Given the description of an element on the screen output the (x, y) to click on. 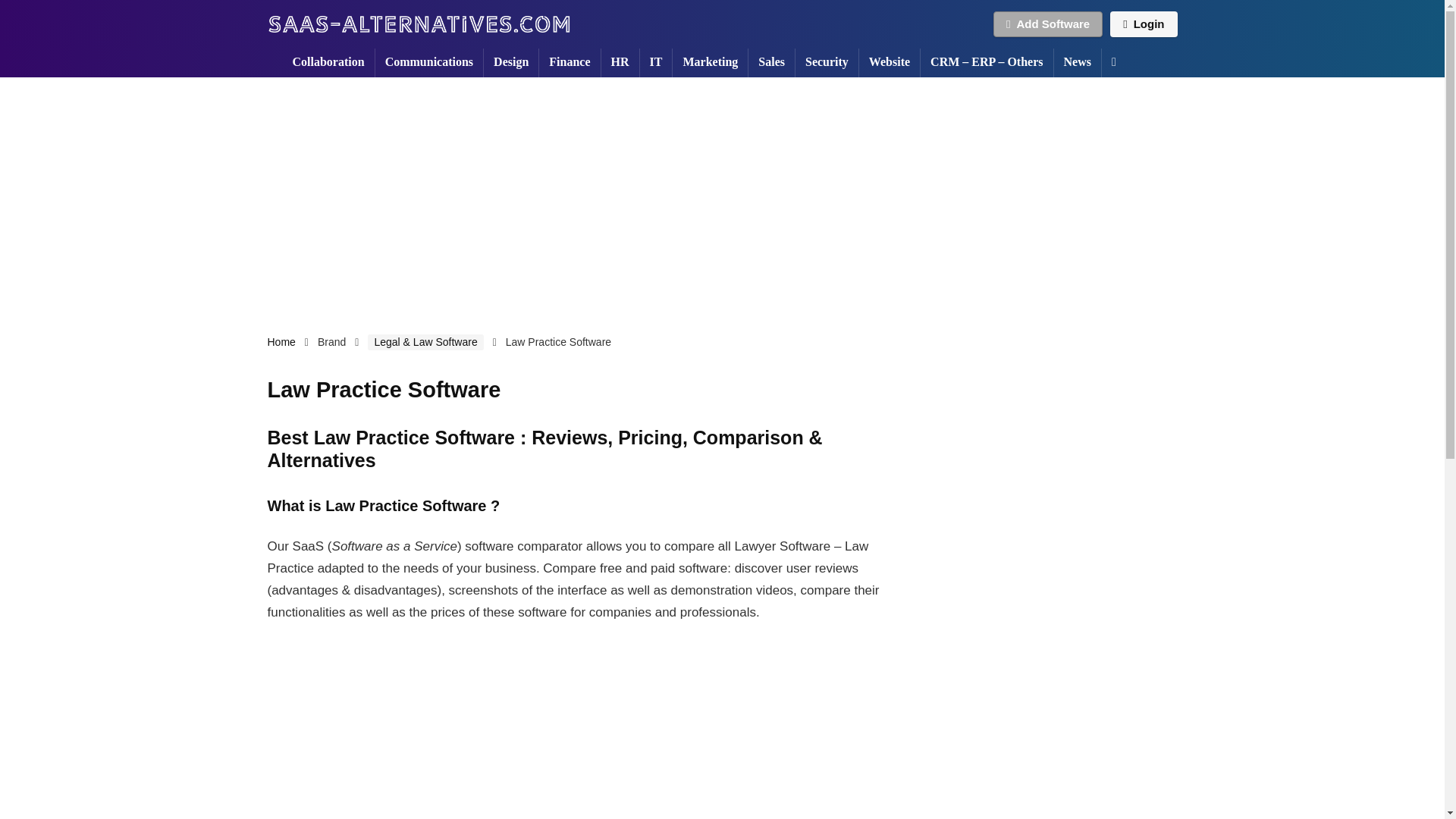
Add Software (1047, 23)
Advertisement (1048, 436)
Advertisement (585, 733)
Communications (429, 62)
Collaboration (328, 62)
Design (510, 62)
